Given the description of an element on the screen output the (x, y) to click on. 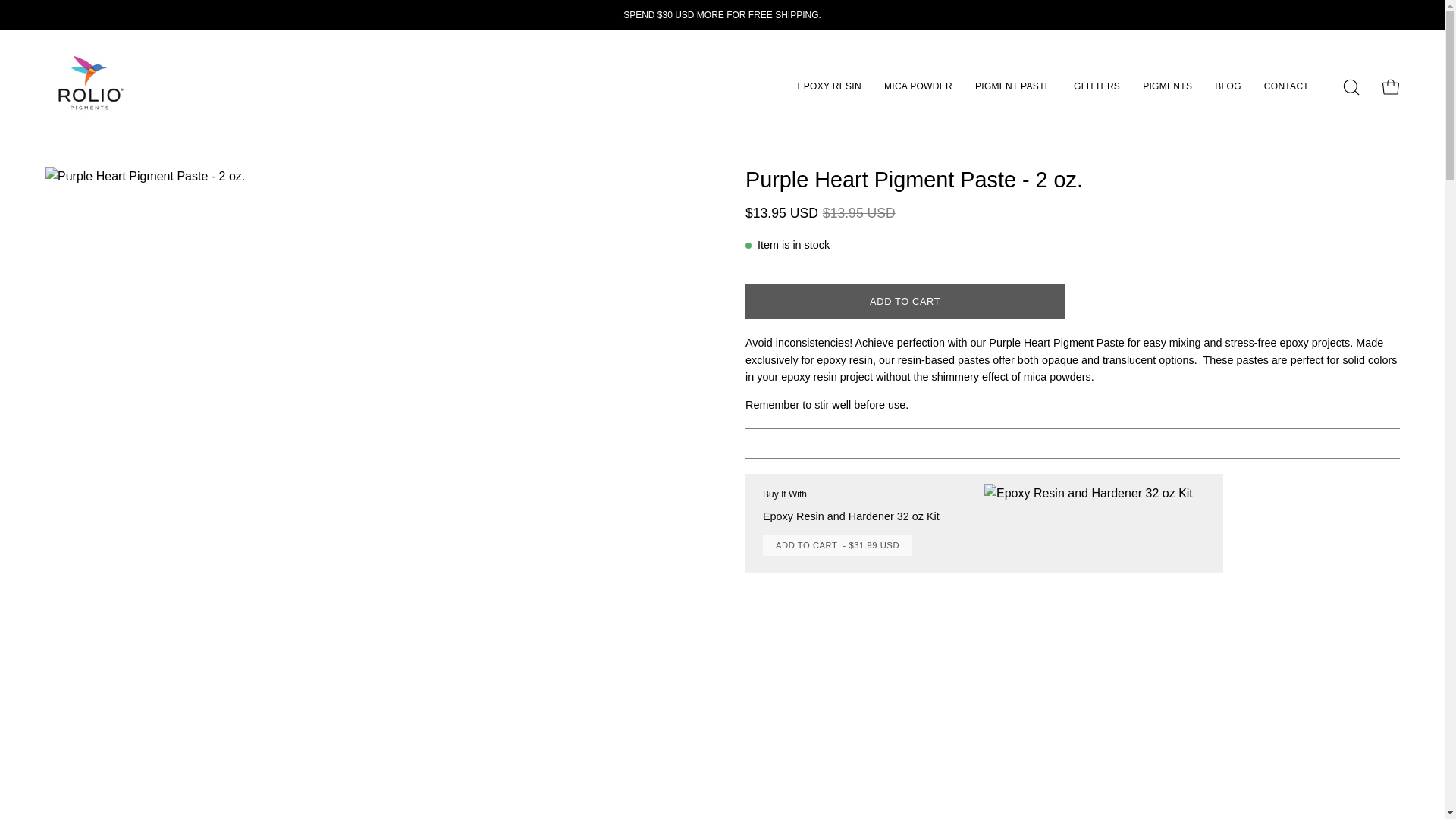
Open search bar (1351, 87)
MICA POWDER (917, 87)
PIGMENT PASTE (1012, 87)
EPOXY RESIN (829, 87)
